Given the description of an element on the screen output the (x, y) to click on. 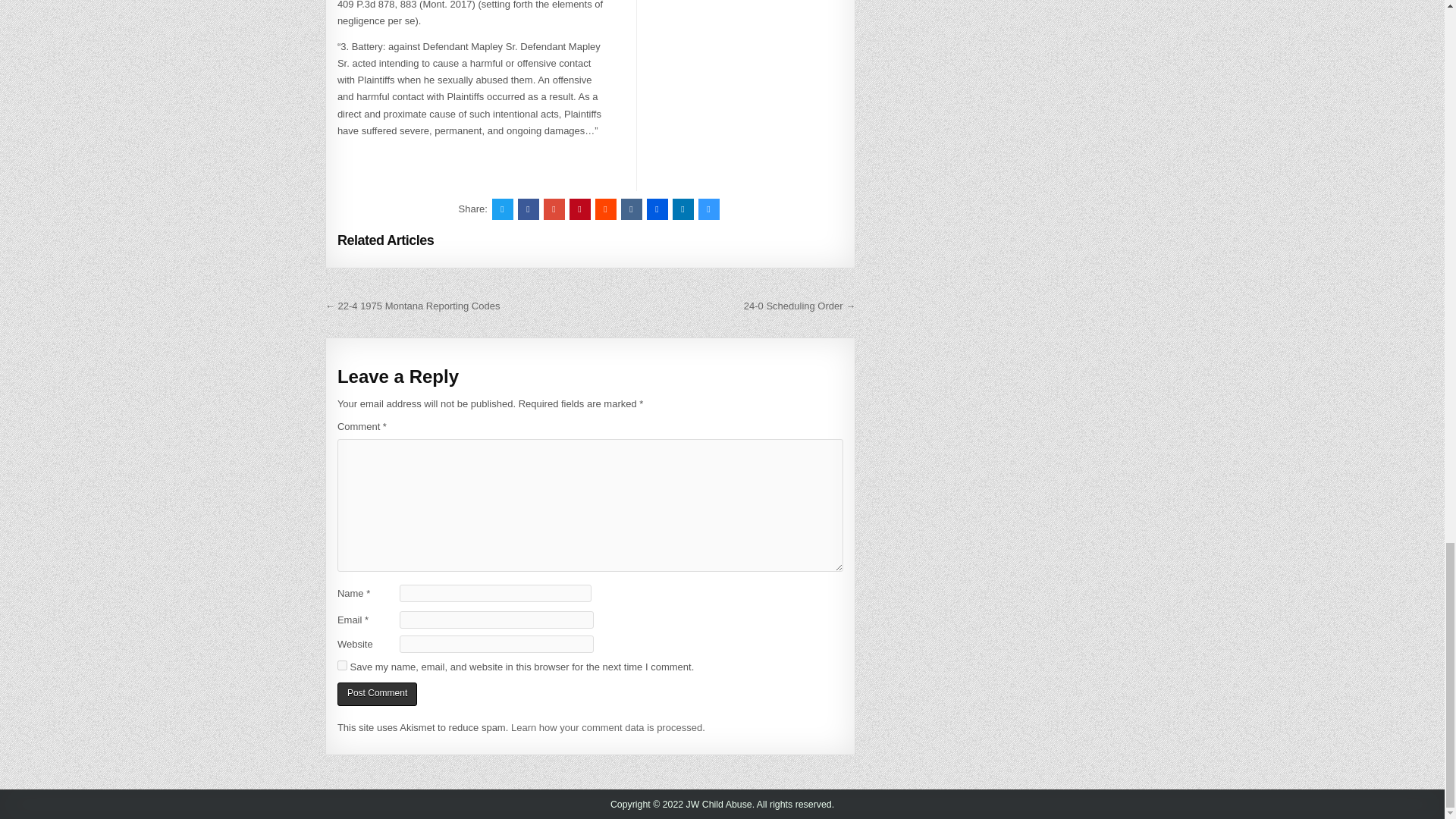
Share this on VK (631, 209)
Share this on Reddit (604, 209)
Tweet This! (502, 209)
Post Comment (376, 693)
Share this on Pinterest (579, 209)
Post Comment (376, 693)
Share this on Facebook (527, 209)
yes (342, 665)
Share this on Digg (656, 209)
Learn how your comment data is processed (606, 727)
